Given the description of an element on the screen output the (x, y) to click on. 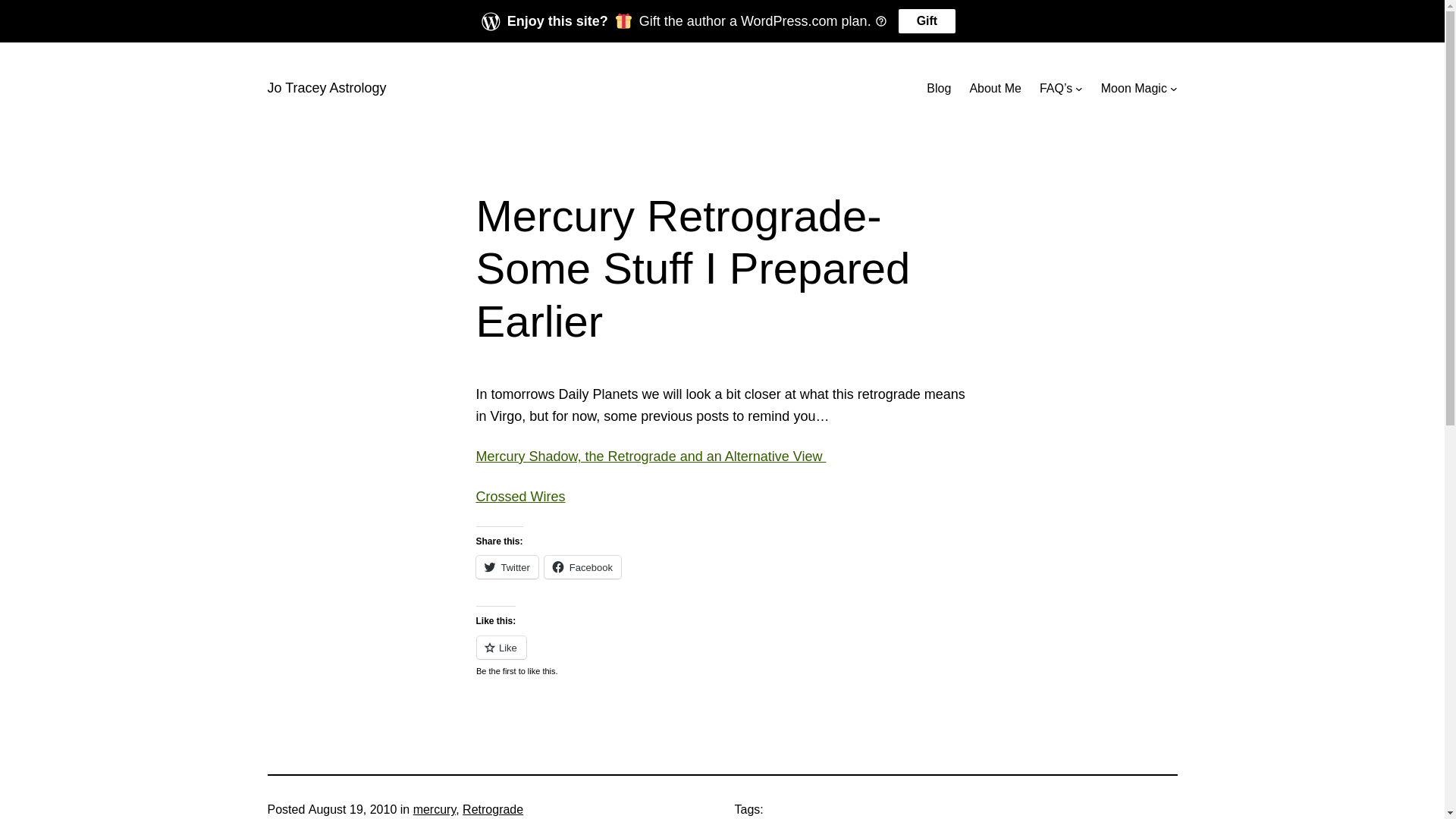
About Me Element type: text (994, 88)
Mercury Shadow, the Retrograde and an Alternative View  Element type: text (651, 456)
Crossed Wires Element type: text (520, 496)
Blog Element type: text (938, 88)
mercury Element type: text (434, 809)
Retrograde Element type: text (492, 809)
Gift Element type: text (927, 21)
Twitter Element type: text (507, 566)
Like or Reblog Element type: hover (722, 656)
Facebook Element type: text (582, 566)
Moon Magic Element type: text (1134, 88)
Jo Tracey Astrology Element type: text (325, 87)
